Given the description of an element on the screen output the (x, y) to click on. 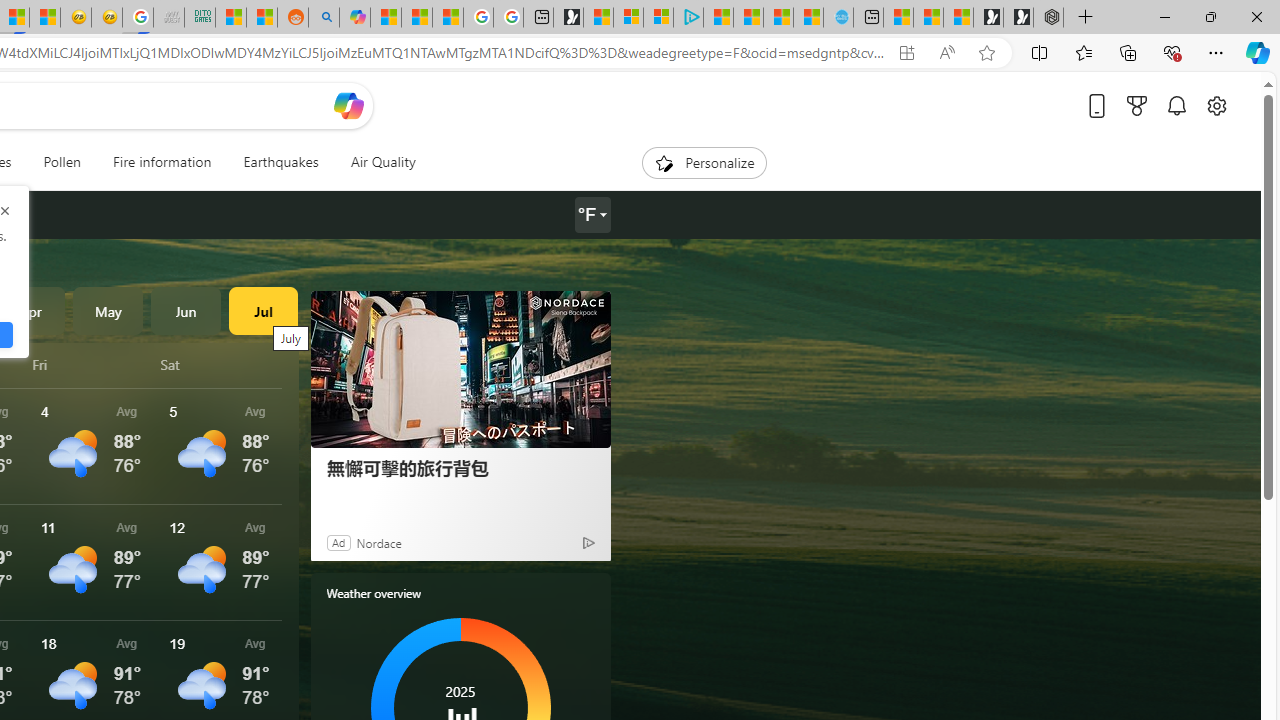
Fri (93, 363)
